Given the description of an element on the screen output the (x, y) to click on. 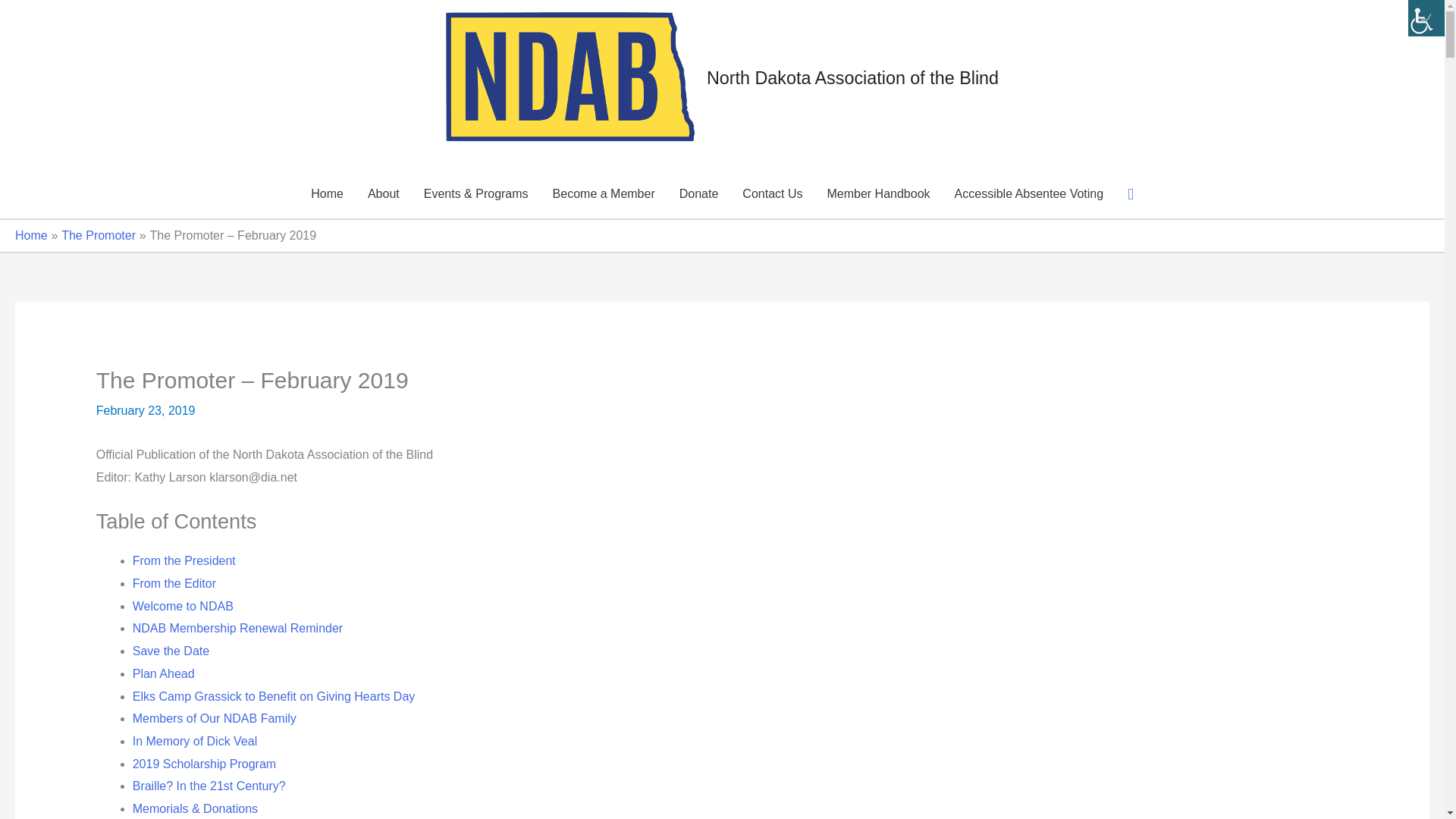
Home (326, 193)
About (383, 193)
Braille? In the 21st Century? (208, 785)
Members of Our NDAB Family (214, 717)
Contact Us (771, 193)
In Memory of Dick Veal (194, 740)
Home (31, 235)
Member Handbook (877, 193)
2019 Scholarship Program (204, 763)
Accessible Absentee Voting (1029, 193)
The Promoter (98, 235)
NDAB Membership Renewal Reminder (237, 627)
Plan Ahead (163, 673)
Donate (698, 193)
North Dakota Association of the Blind (852, 77)
